Given the description of an element on the screen output the (x, y) to click on. 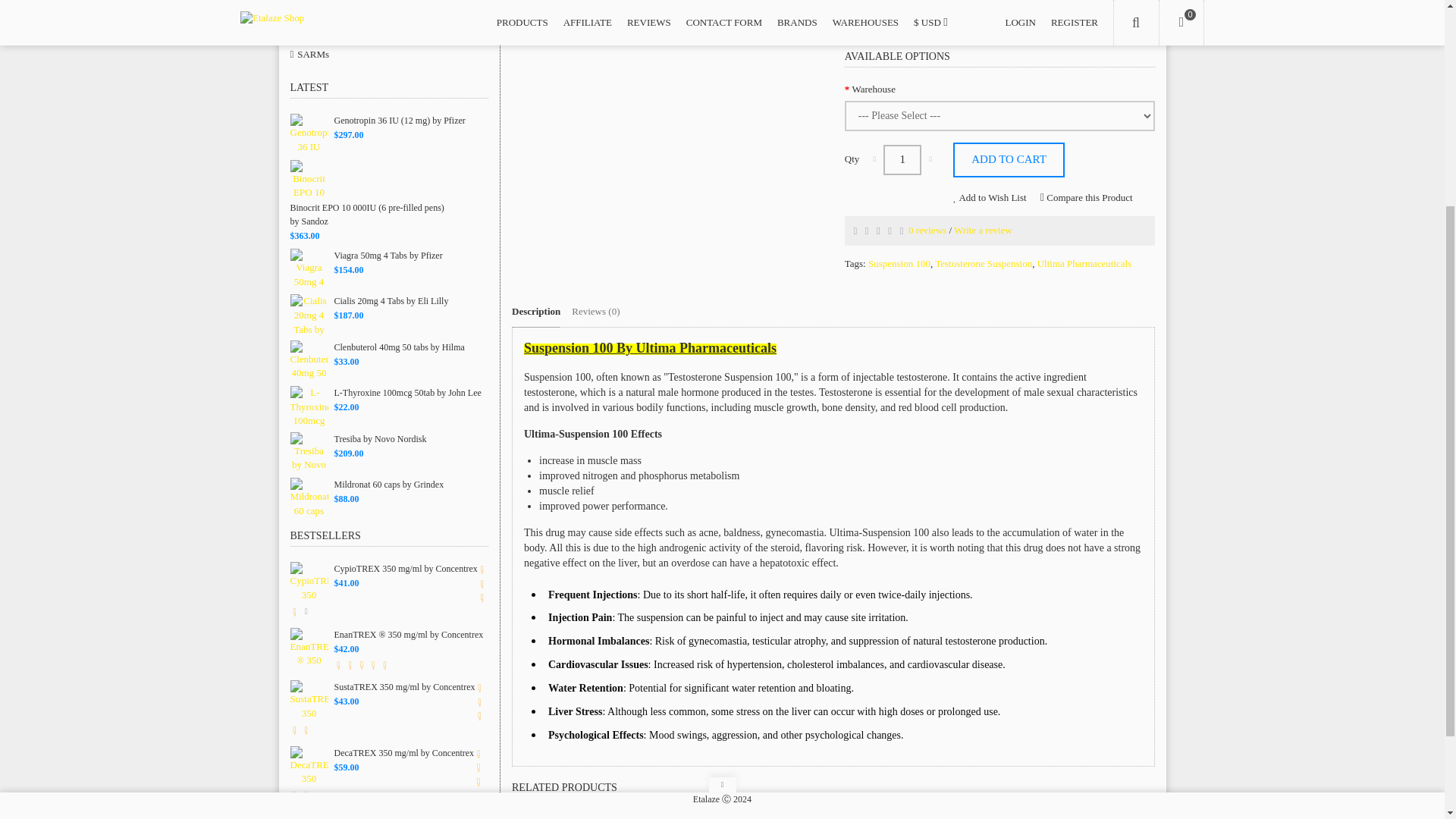
L-Thyroxine 100mcg 50tab by John Lee (308, 405)
Viagra 50mg 4 Tabs by Pfizer (308, 268)
Suspension 100 By Ultima Pharmaceuticals (598, 6)
Tresiba by Novo Nordisk (308, 452)
1 (902, 159)
Clenbuterol 40mg 50 tabs by Hilma (308, 360)
Mildronat 60 caps by Grindex  (308, 497)
